Given the description of an element on the screen output the (x, y) to click on. 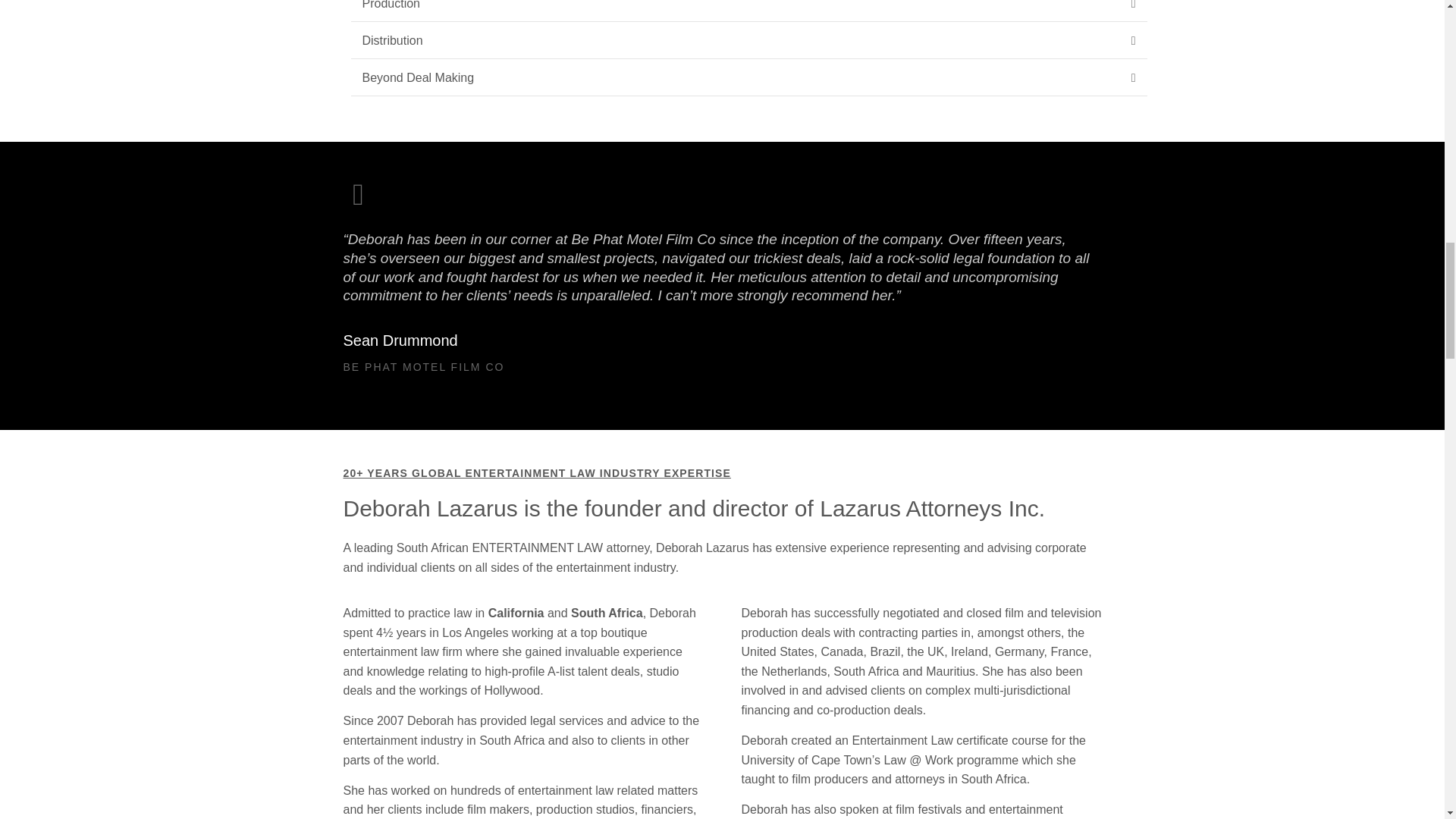
Production (391, 4)
Beyond Deal Making (418, 77)
Distribution (392, 40)
